Given the description of an element on the screen output the (x, y) to click on. 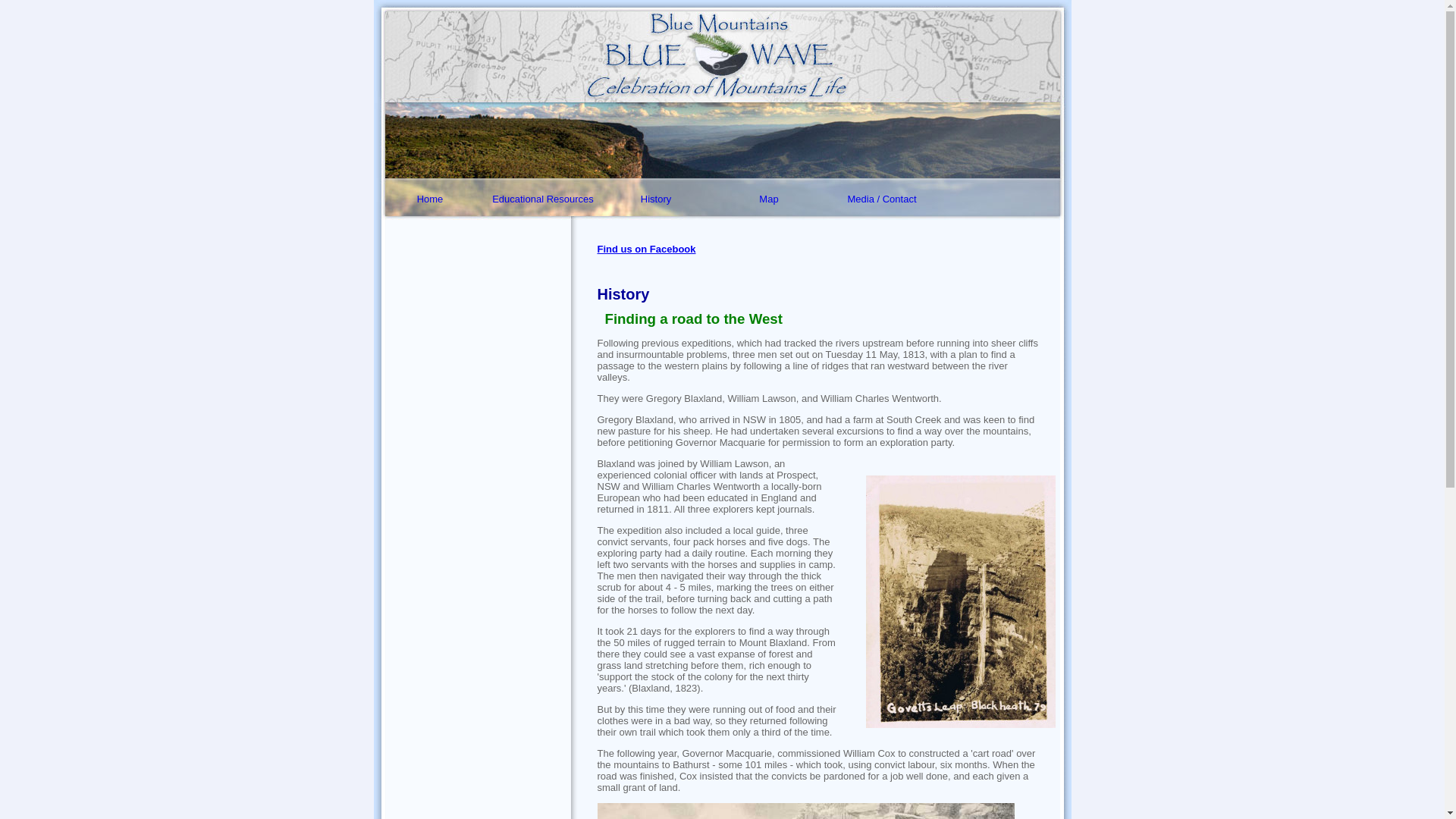
Educational Resources Element type: text (542, 198)
Home Element type: text (429, 198)
Media / Contact Element type: text (881, 198)
Find us on Facebook Element type: text (646, 248)
History Element type: text (655, 198)
Map Element type: text (768, 198)
